Given the description of an element on the screen output the (x, y) to click on. 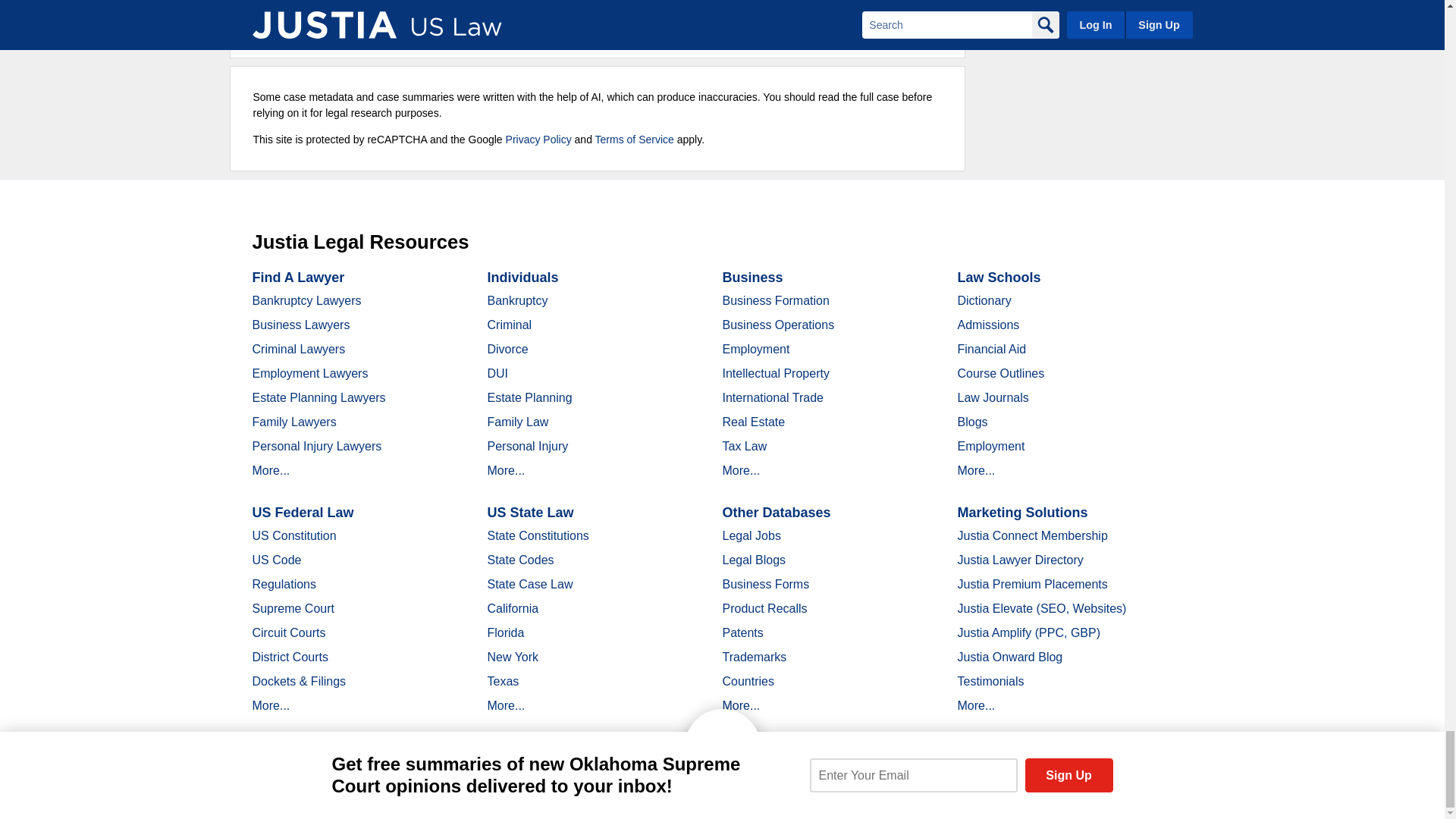
Twitter (372, 791)
Terms of Service (634, 139)
Privacy Policy (538, 139)
Facebook (345, 791)
LinkedIn (398, 791)
